Given the description of an element on the screen output the (x, y) to click on. 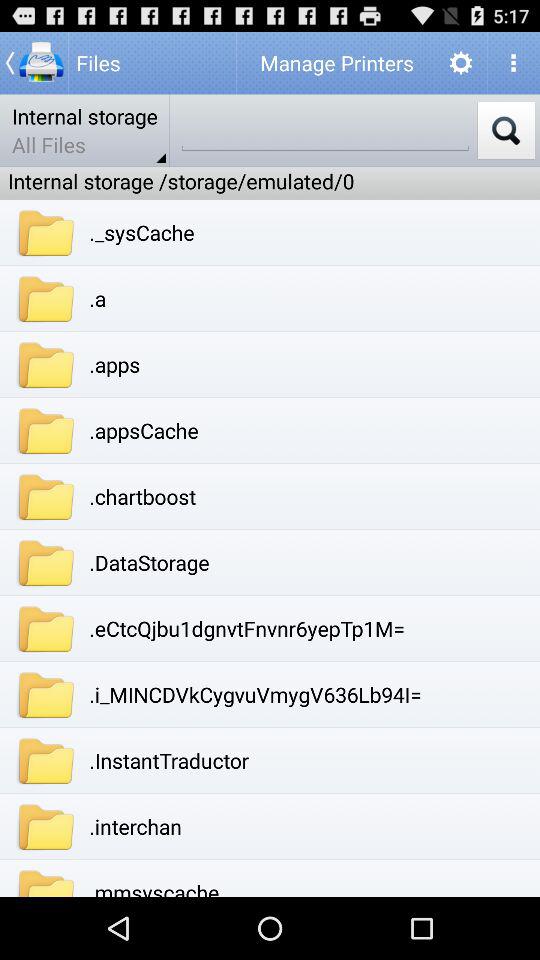
tap item above the .i_mincdvkcygvuvmygv636lb94i= app (247, 628)
